Given the description of an element on the screen output the (x, y) to click on. 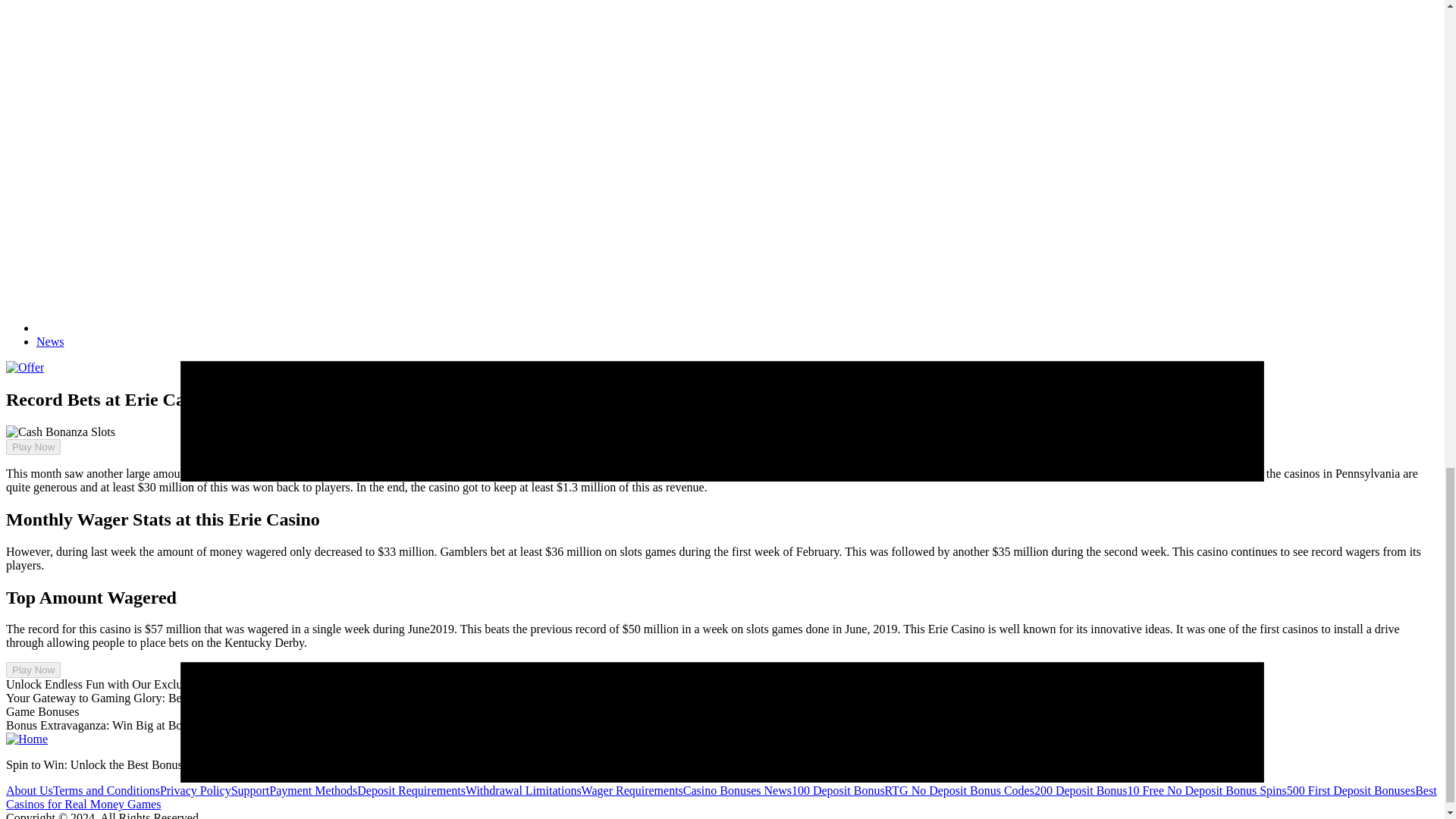
Terms and Conditions (106, 789)
RTG No Deposit Bonus Codes (959, 789)
Casino Bonuses News (737, 789)
Support (250, 789)
Payment Methods (312, 789)
Wager Requirements (631, 789)
100 Deposit Bonus (838, 789)
500 First Deposit Bonuses (1351, 789)
Deposit Requirements (410, 789)
Play Now (33, 669)
10 Free No Deposit Bonus Spins (1206, 789)
Withdrawal Limitations (522, 789)
News (50, 341)
Play Now (33, 446)
Play Now (27, 433)
